Given the description of an element on the screen output the (x, y) to click on. 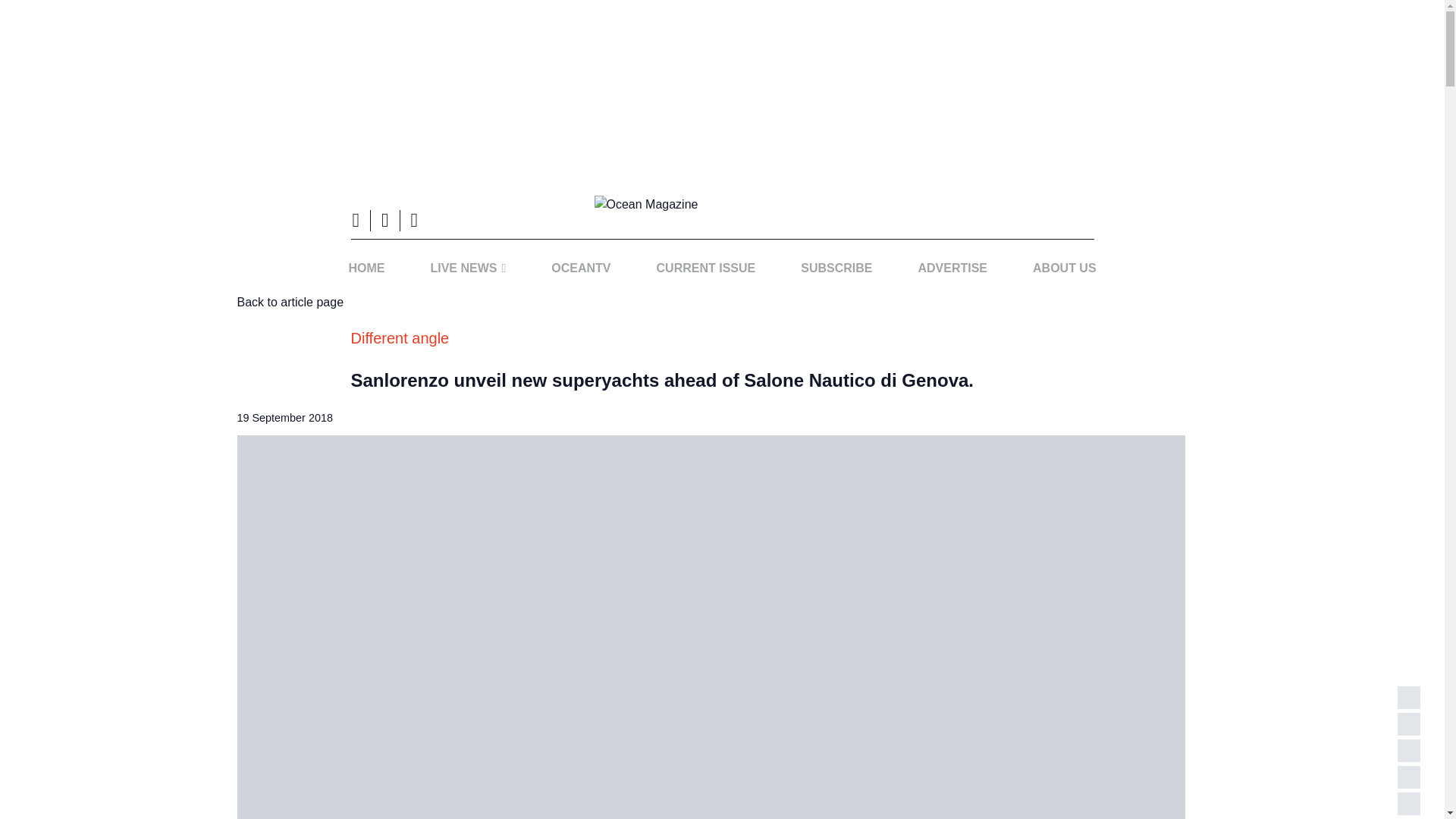
Live News (467, 268)
Ocean Magazine (722, 204)
About Us (1064, 268)
HOME (365, 268)
LIVE NEWS (467, 268)
CURRENT ISSUE (705, 268)
Home (365, 268)
Current Issue (705, 268)
Back to article page (289, 301)
OCEANTV (580, 268)
